Given the description of an element on the screen output the (x, y) to click on. 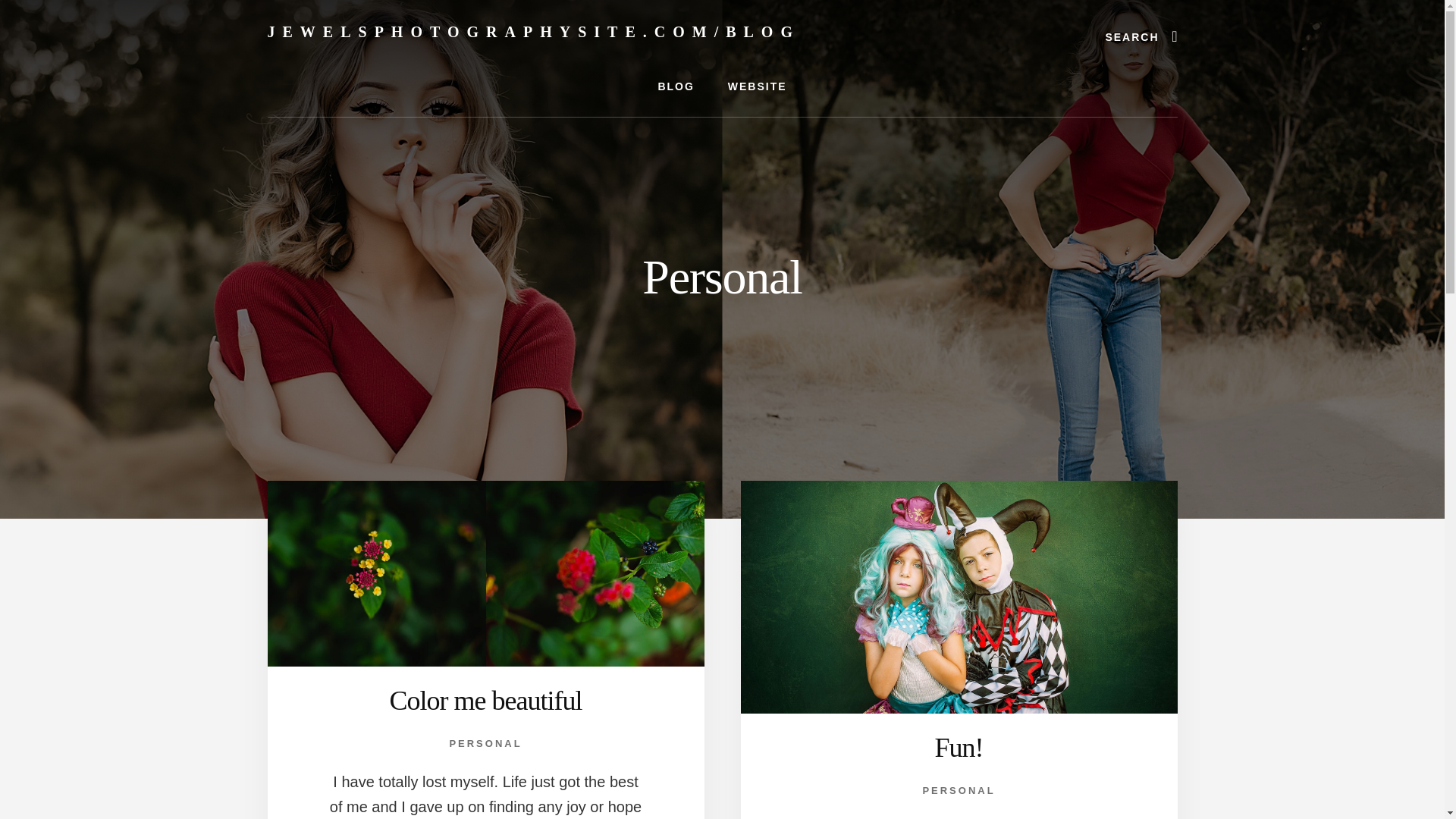
BLOG (675, 86)
PERSONAL (957, 790)
Color me beautiful (486, 700)
PERSONAL (484, 743)
Fun! (958, 747)
WEBSITE (757, 86)
